Given the description of an element on the screen output the (x, y) to click on. 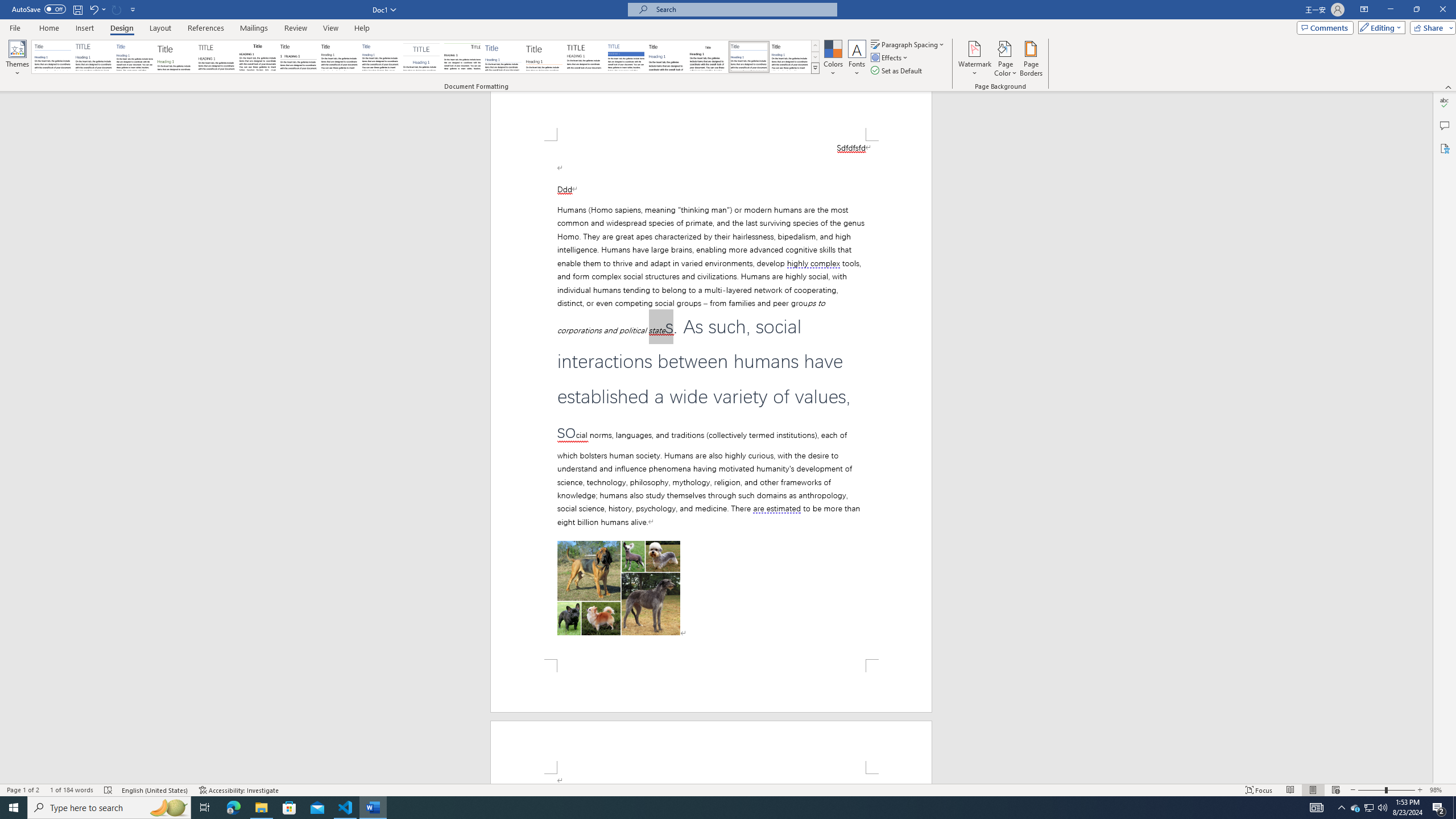
Page Color (1005, 58)
Lines (Simple) (503, 56)
Word (666, 56)
Accessibility (1444, 147)
Document (52, 56)
Word 2010 (749, 56)
